Given the description of an element on the screen output the (x, y) to click on. 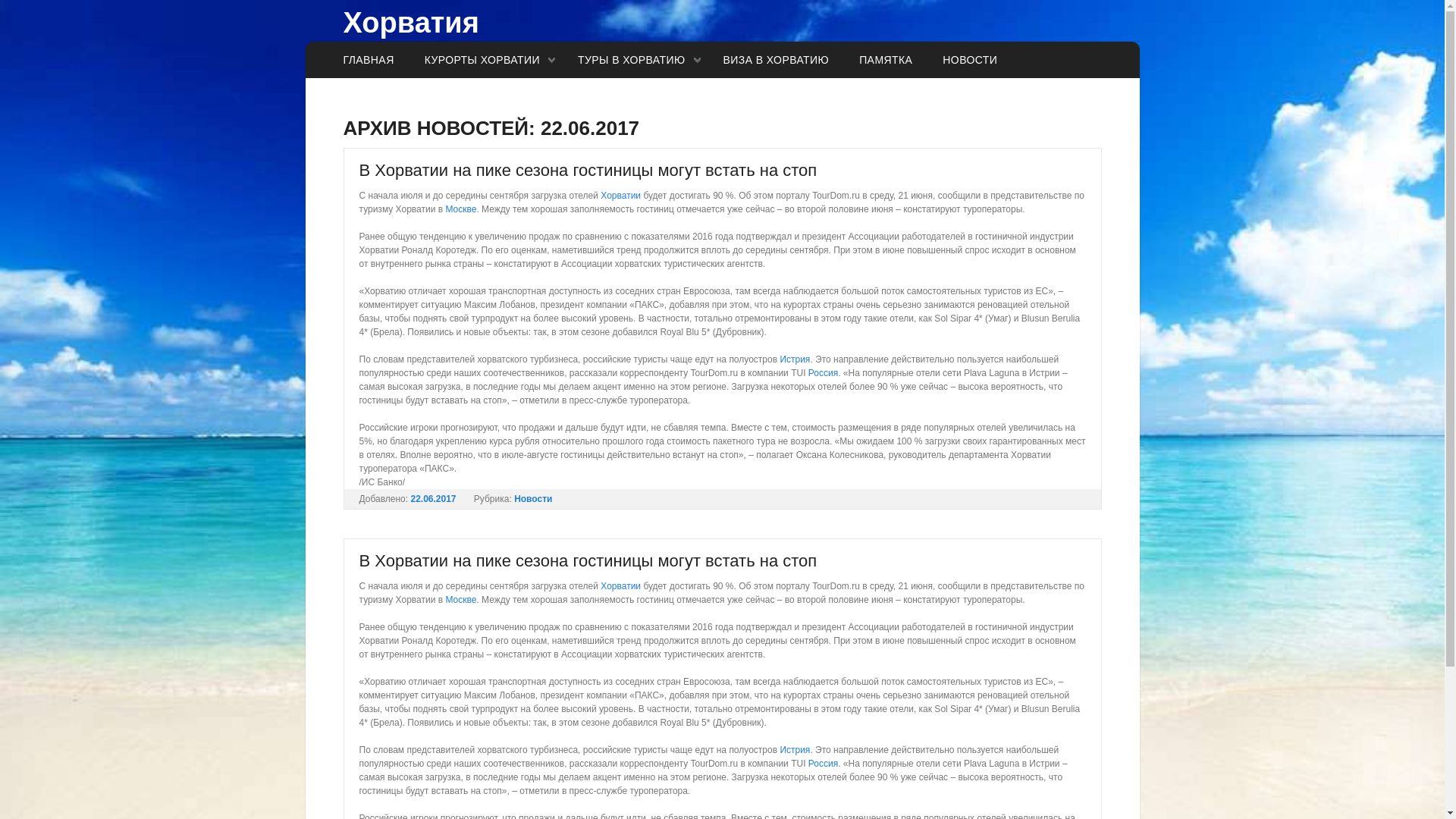
22.06.2017 Element type: text (432, 498)
